Given the description of an element on the screen output the (x, y) to click on. 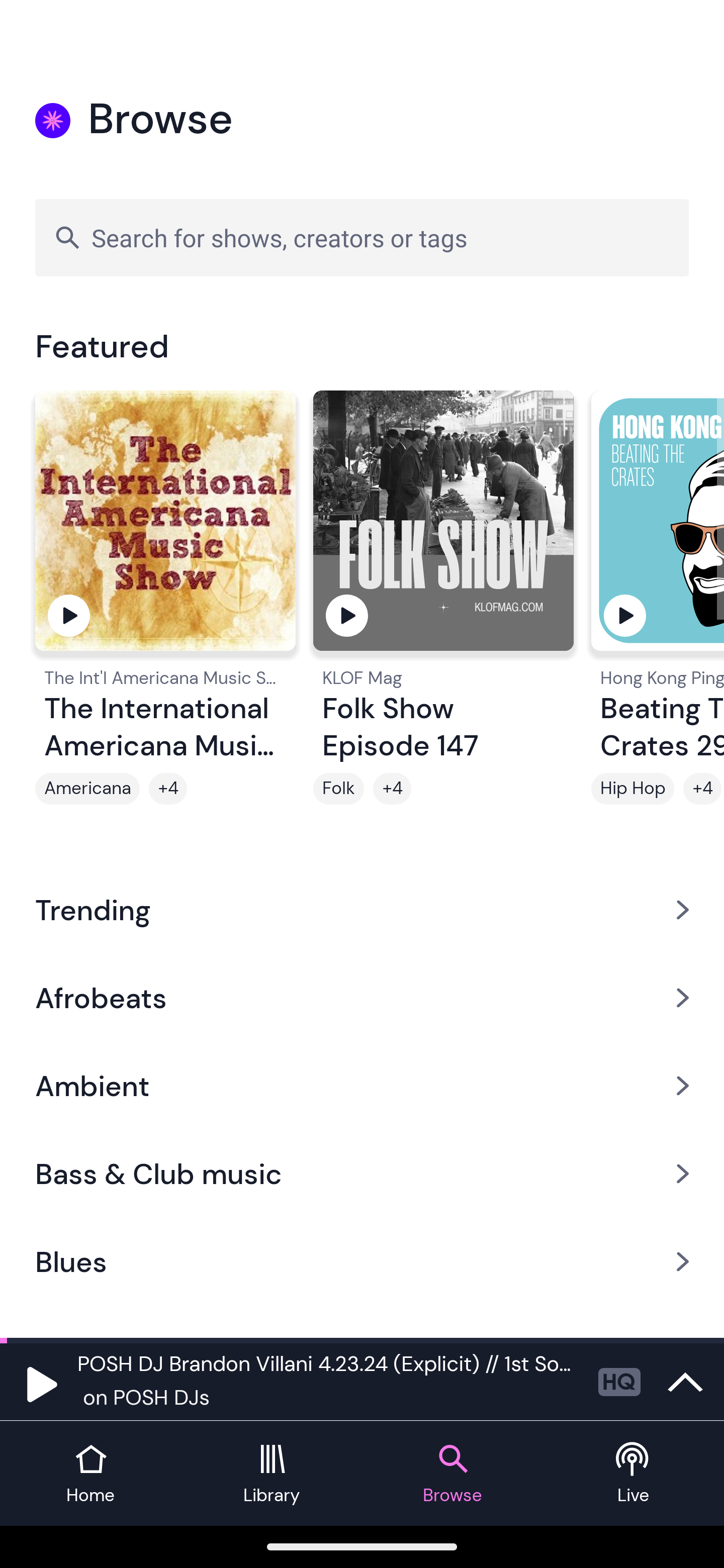
Search for shows, creators or tags (361, 237)
Americana (87, 788)
Folk (338, 788)
Hip Hop (632, 788)
Trending (361, 909)
Afrobeats (361, 997)
Ambient (361, 1085)
Bass & Club music (361, 1174)
Blues (361, 1262)
Home tab Home (90, 1473)
Library tab Library (271, 1473)
Browse tab Browse (452, 1473)
Live tab Live (633, 1473)
